Given the description of an element on the screen output the (x, y) to click on. 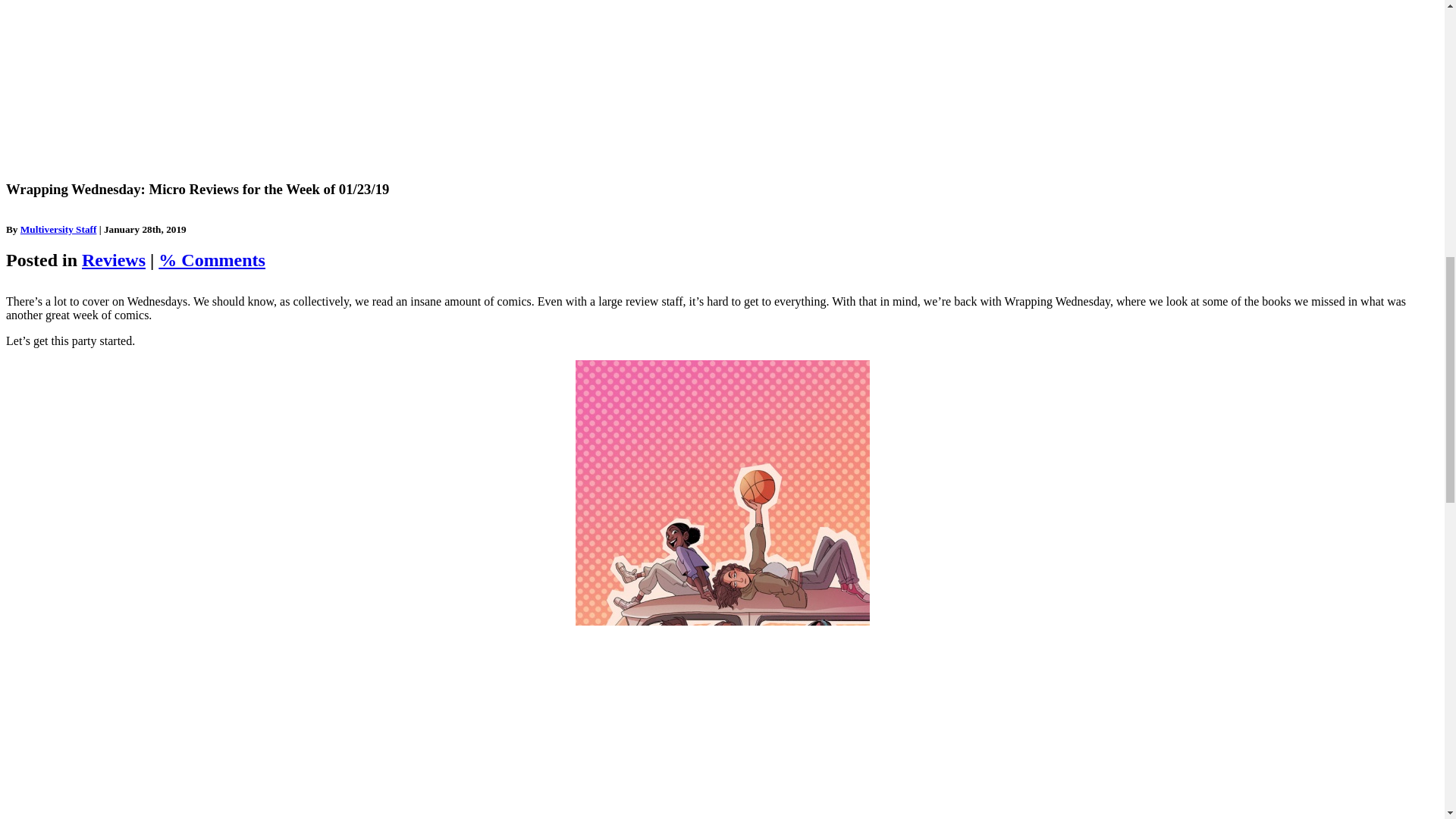
Posts by Multiversity Staff (58, 229)
Multiversity Staff (58, 229)
Reviews (113, 260)
